Given the description of an element on the screen output the (x, y) to click on. 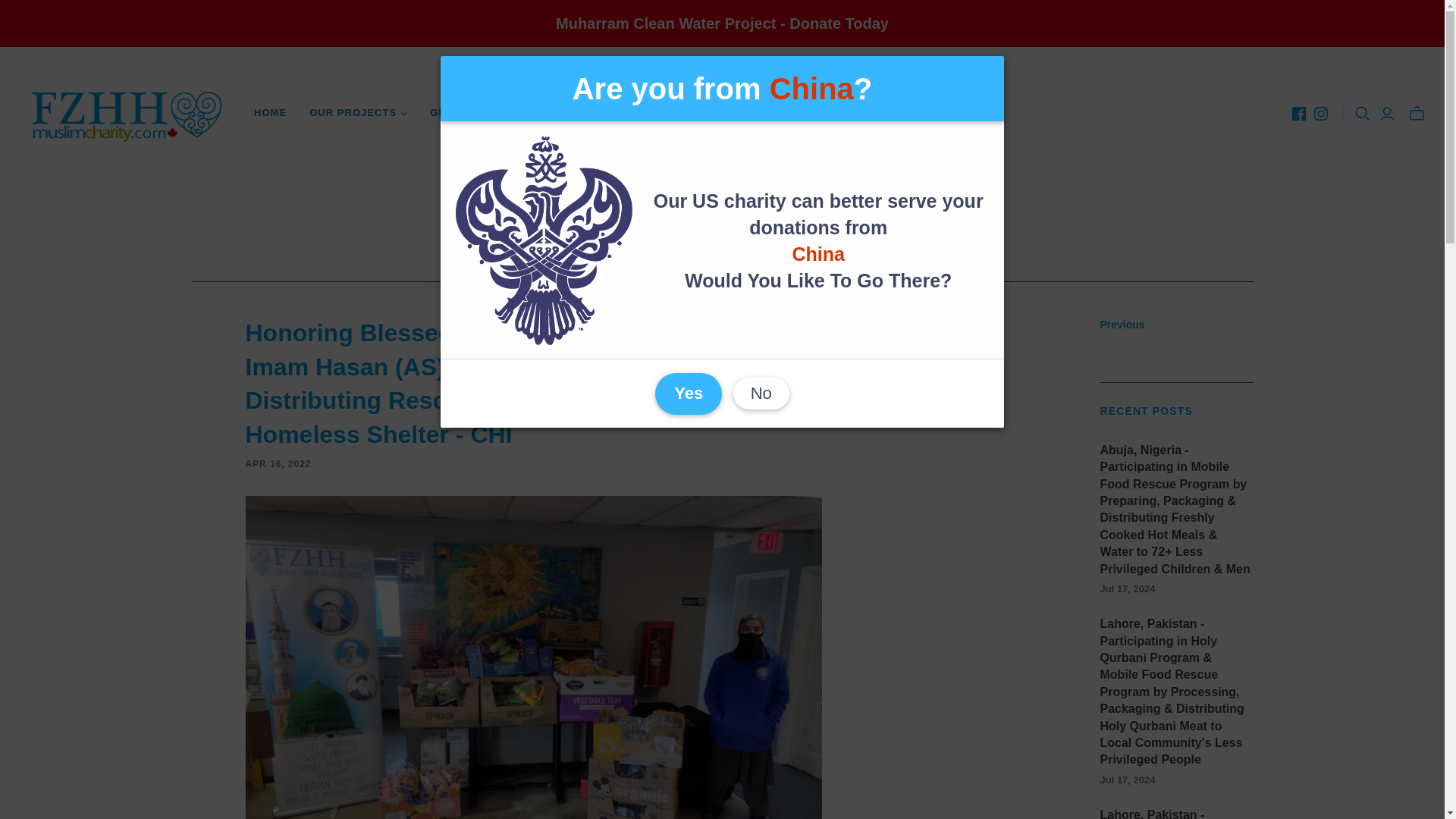
HOME (270, 113)
HAPPENING NOW (685, 113)
